Given the description of an element on the screen output the (x, y) to click on. 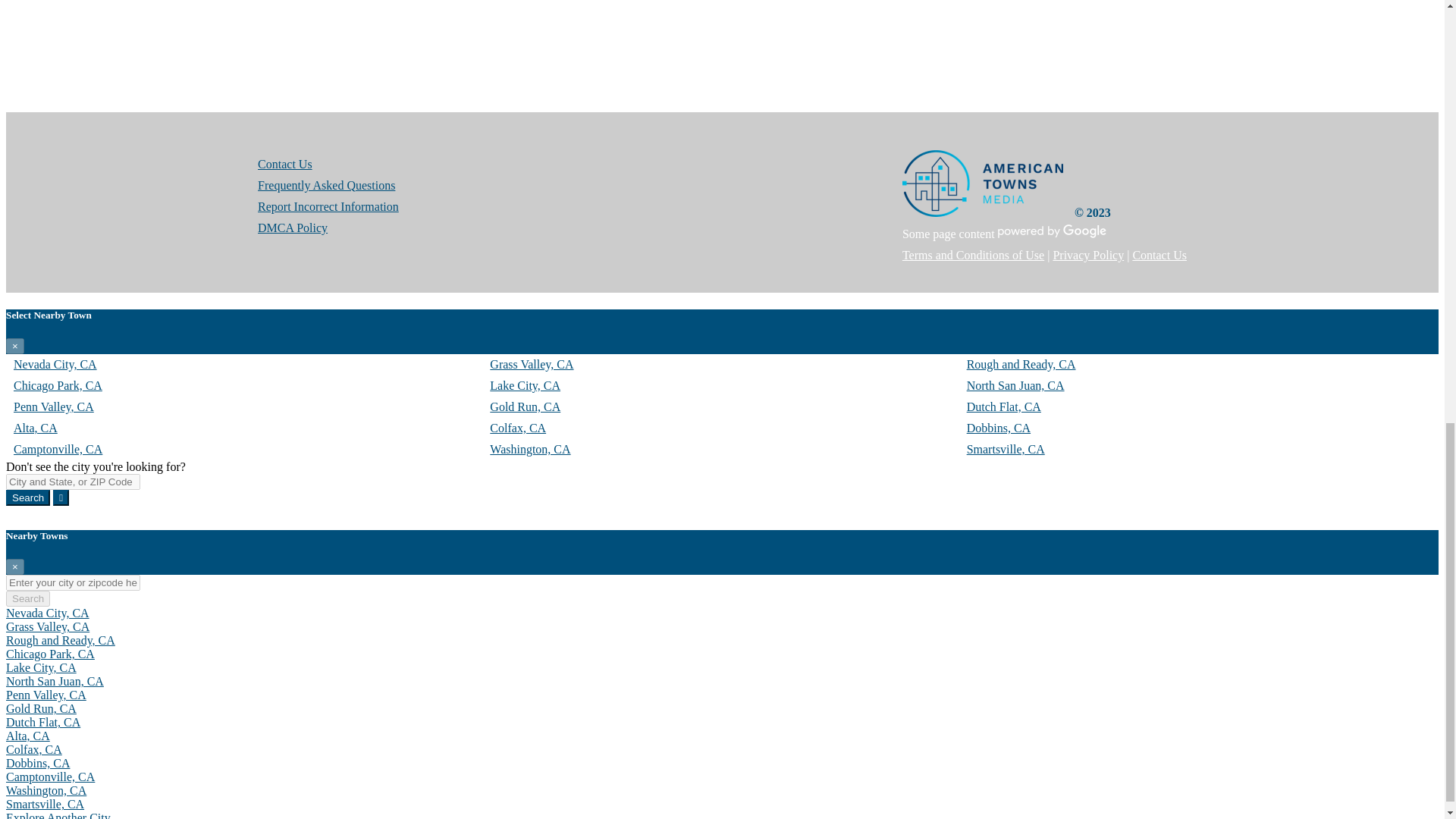
Contact Us (285, 164)
North San Juan, CA (1015, 385)
Gold Run, CA (524, 406)
Terms and Conditions of Use (972, 254)
Lake City, CA (41, 667)
Rough and Ready, CA (1020, 364)
DMCA Policy (292, 227)
Grass Valley, CA (46, 626)
Rough and Ready, CA (60, 640)
Chicago Park, CA (57, 385)
Chicago Park, CA (49, 653)
Smartsville, CA (1005, 449)
Grass Valley, CA (531, 364)
Dobbins, CA (998, 427)
Report Incorrect Information (327, 205)
